Given the description of an element on the screen output the (x, y) to click on. 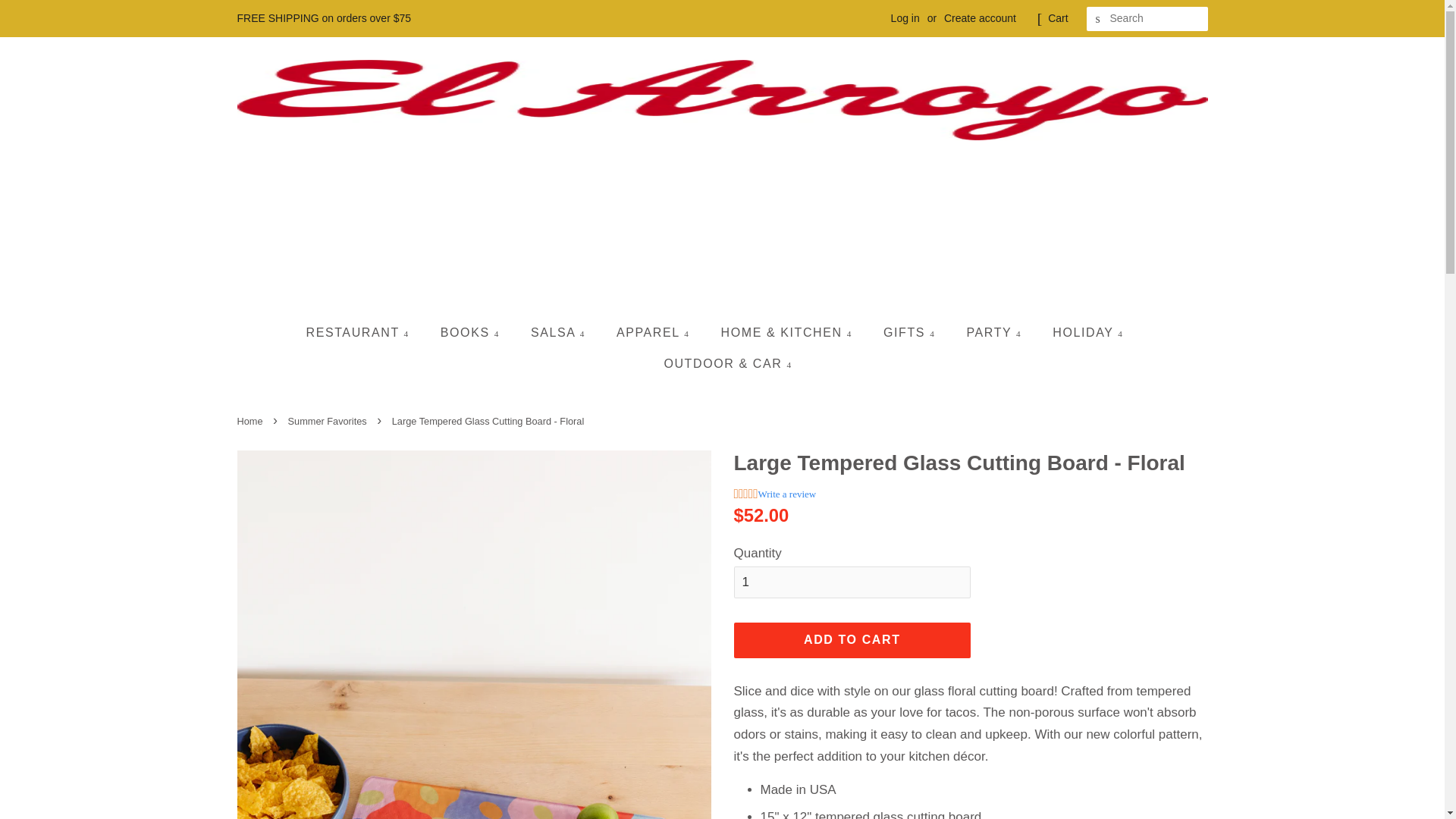
Cart (1057, 18)
SEARCH (1097, 18)
Log in (905, 18)
Create account (979, 18)
1 (852, 582)
Back to the frontpage (250, 420)
